Given the description of an element on the screen output the (x, y) to click on. 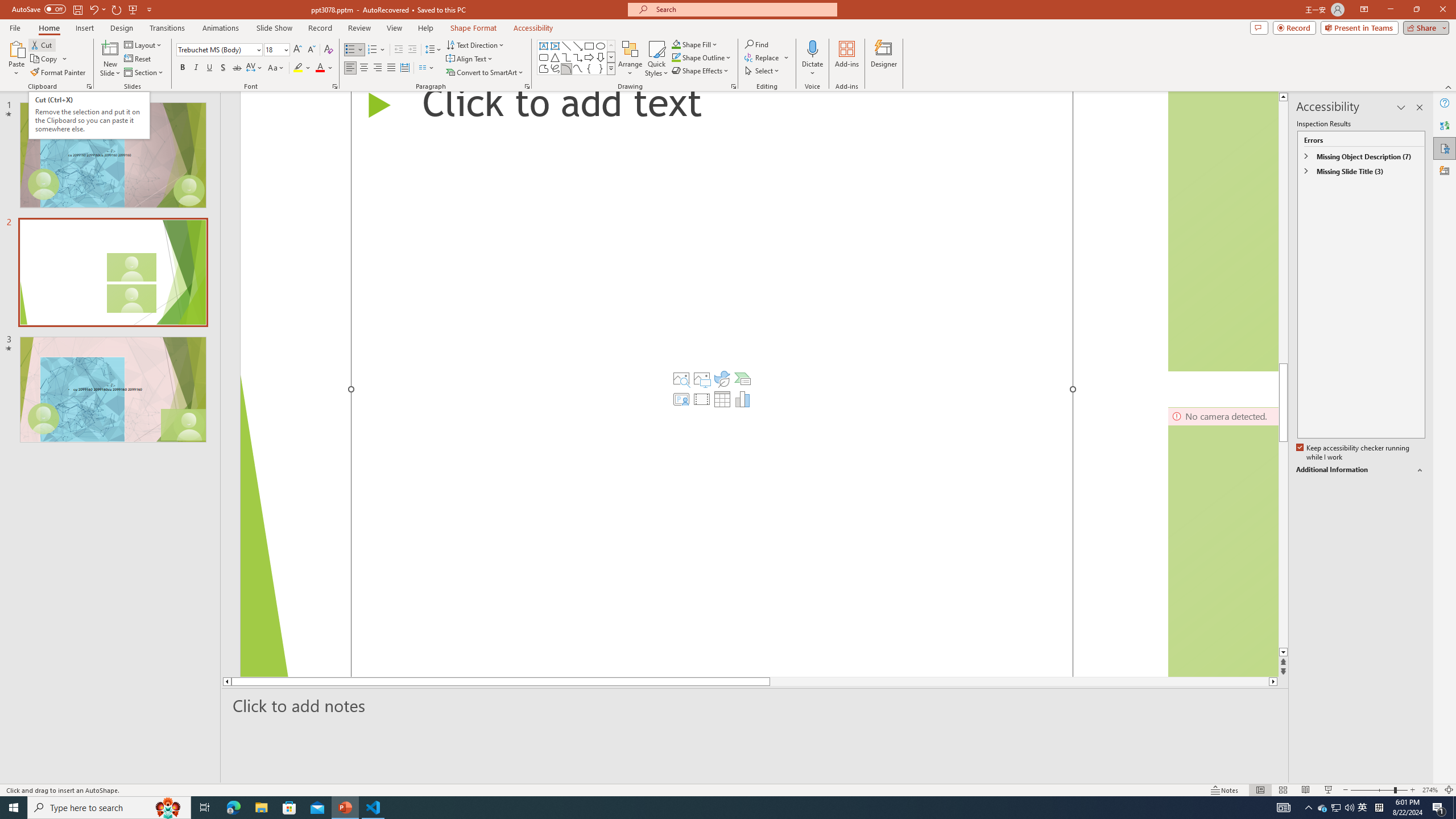
Additional Information (1360, 469)
Insert Cameo (681, 398)
Shape Fill Dark Green, Accent 2 (675, 44)
Camera 3, No camera detected. (1222, 541)
